Given the description of an element on the screen output the (x, y) to click on. 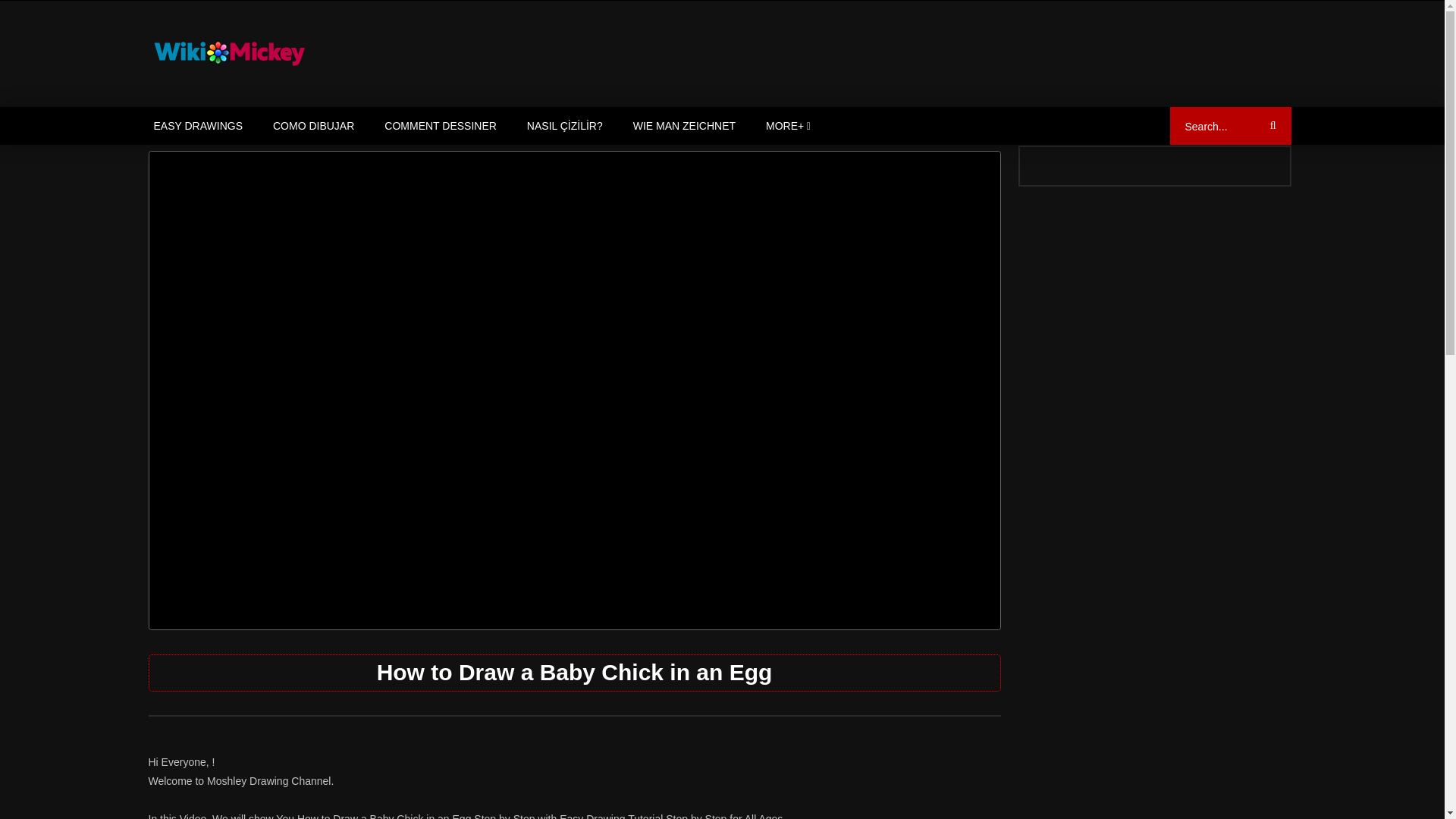
Search (1270, 125)
COMMENT DESSINER (440, 125)
WIE MAN ZEICHNET (684, 125)
COMO DIBUJAR (313, 125)
EASY DRAWINGS (197, 125)
Search (1270, 125)
